Given the description of an element on the screen output the (x, y) to click on. 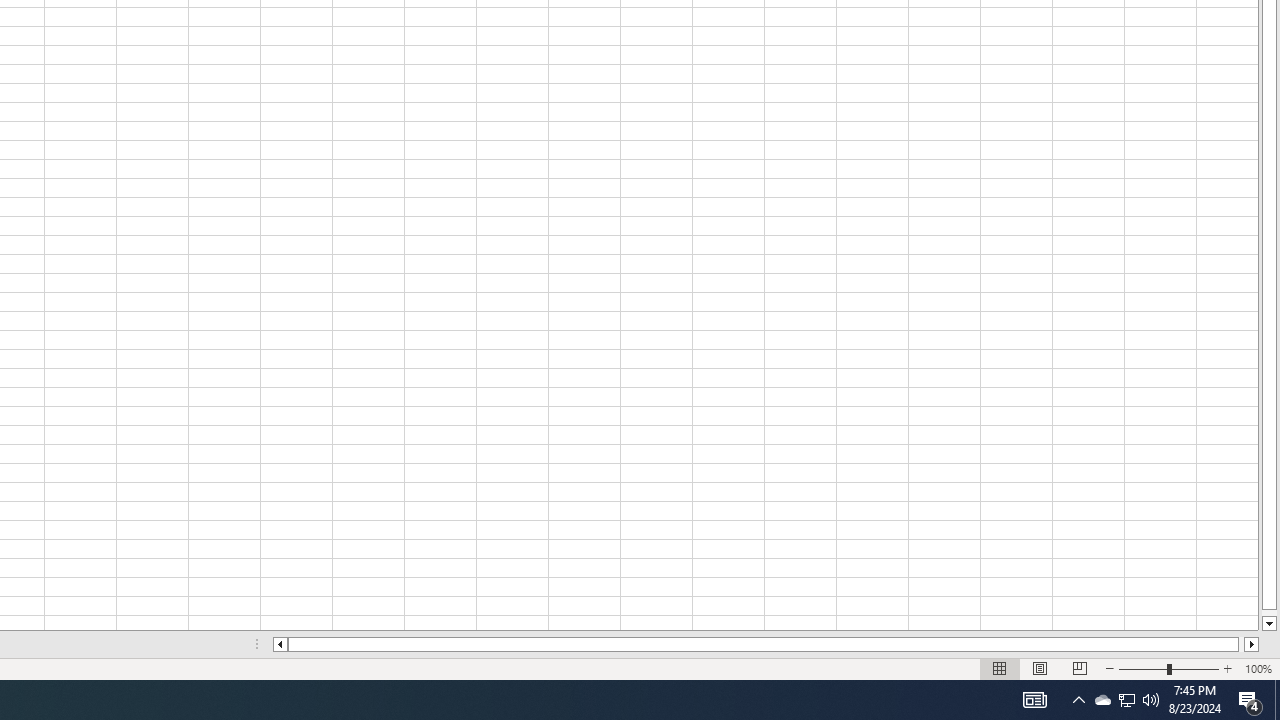
Page Break Preview (1079, 668)
Column right (1252, 644)
Zoom Out (1142, 668)
Page Layout (1039, 668)
Normal (1000, 668)
Column left (279, 644)
Page right (1241, 644)
Zoom (1168, 668)
Zoom In (1227, 668)
Page down (1268, 612)
Line down (1268, 624)
Class: NetUIScrollBar (765, 644)
